Given the description of an element on the screen output the (x, y) to click on. 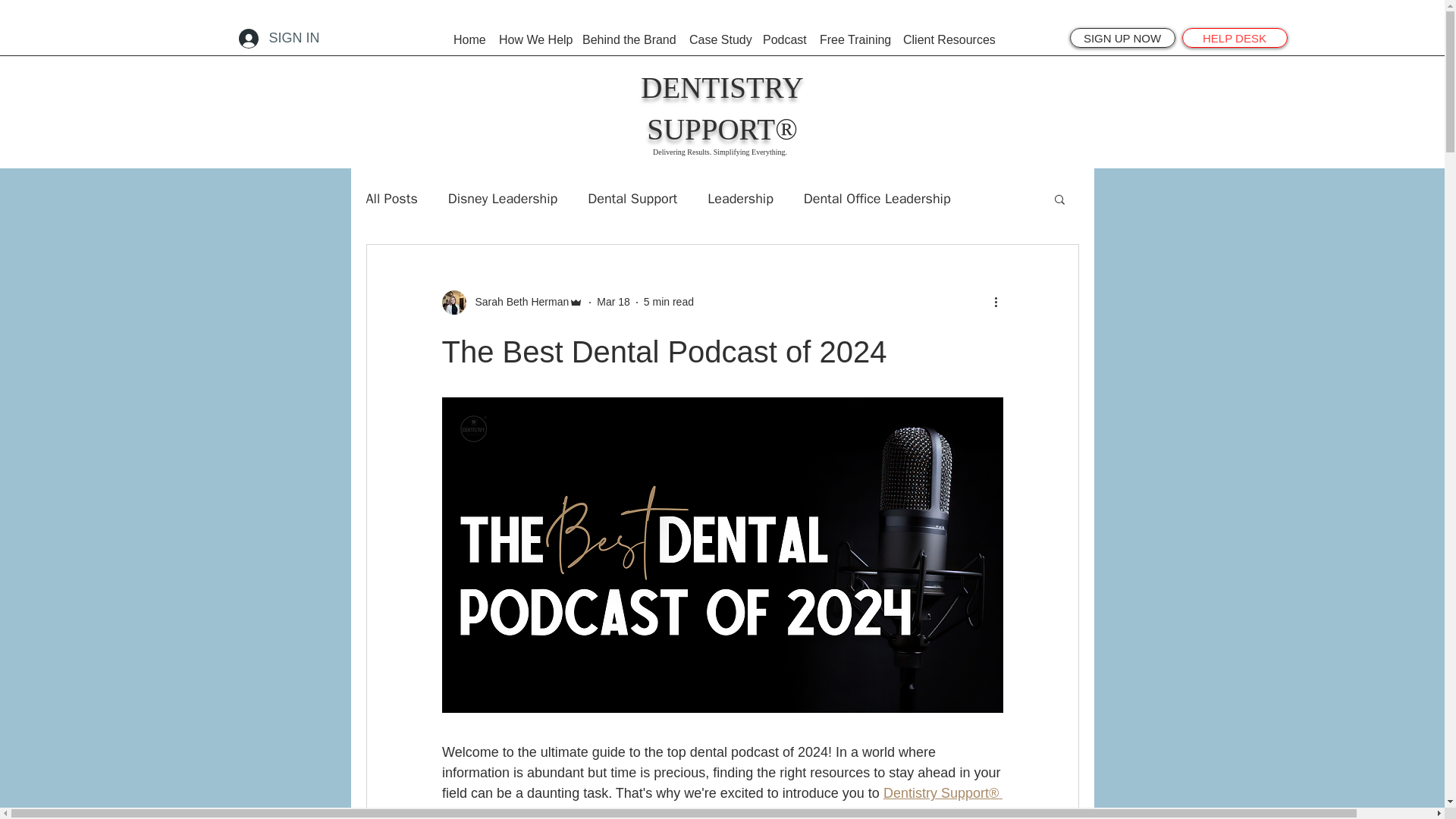
Home (468, 39)
5 min read (668, 301)
Mar 18 (613, 301)
Case Study (718, 39)
Podcast (783, 39)
Behind the Brand (628, 39)
Dental Support (632, 198)
Disney Leadership (502, 198)
Free Training (853, 39)
Leadership (740, 198)
SIGN IN (278, 38)
HELP DESK (1233, 37)
All Posts (390, 198)
DENTISTRY SUPPORT (721, 108)
Client Resources (946, 39)
